Given the description of an element on the screen output the (x, y) to click on. 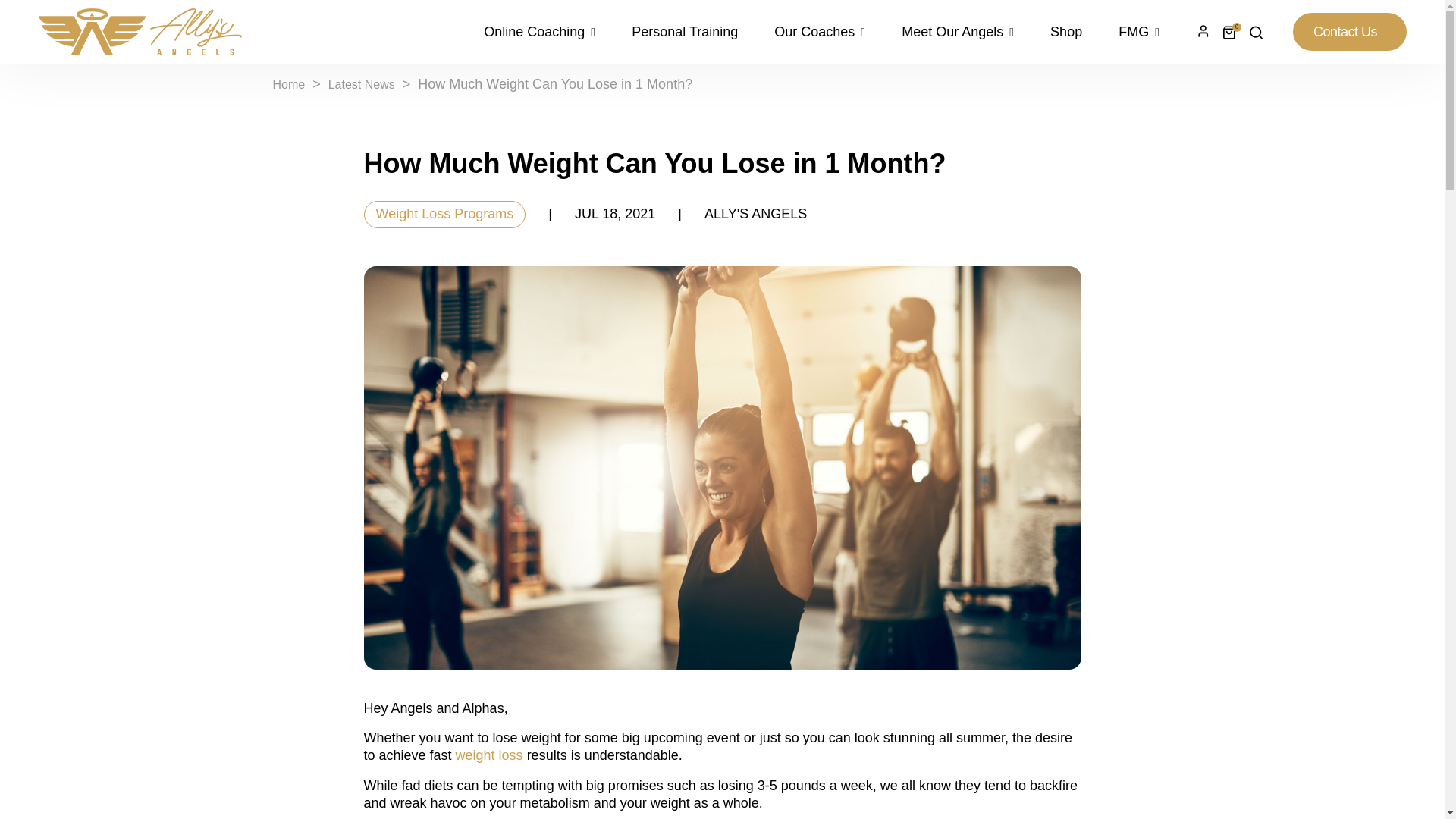
Contact Us (1349, 31)
Latest News (361, 83)
Shop (1066, 31)
Meet Our Angels (957, 31)
weight loss (488, 754)
Online Coaching (547, 31)
Our Coaches (819, 31)
Personal Training (683, 31)
Home (289, 83)
FMG (1129, 31)
